Given the description of an element on the screen output the (x, y) to click on. 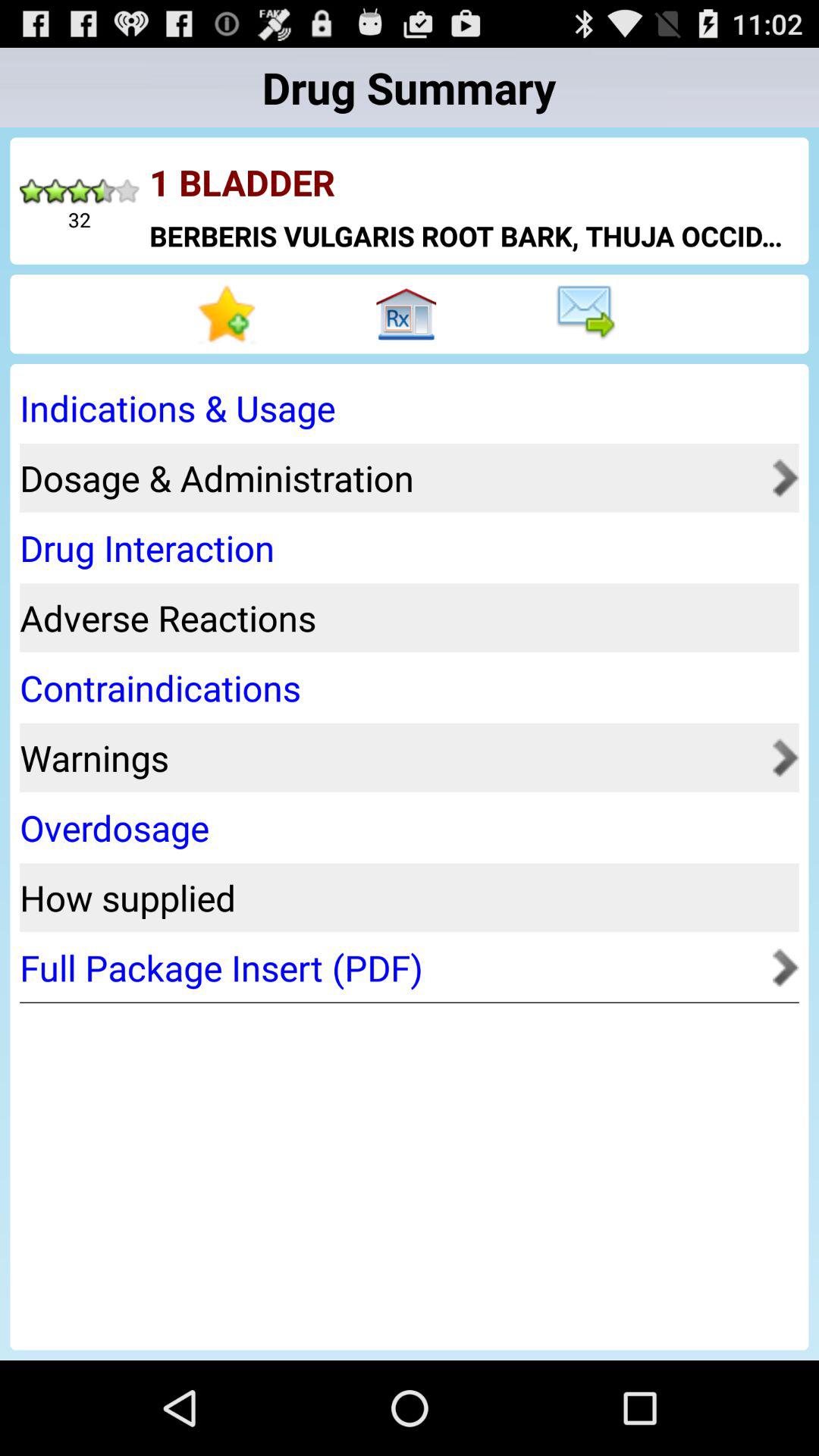
turn off contraindications app (403, 687)
